Given the description of an element on the screen output the (x, y) to click on. 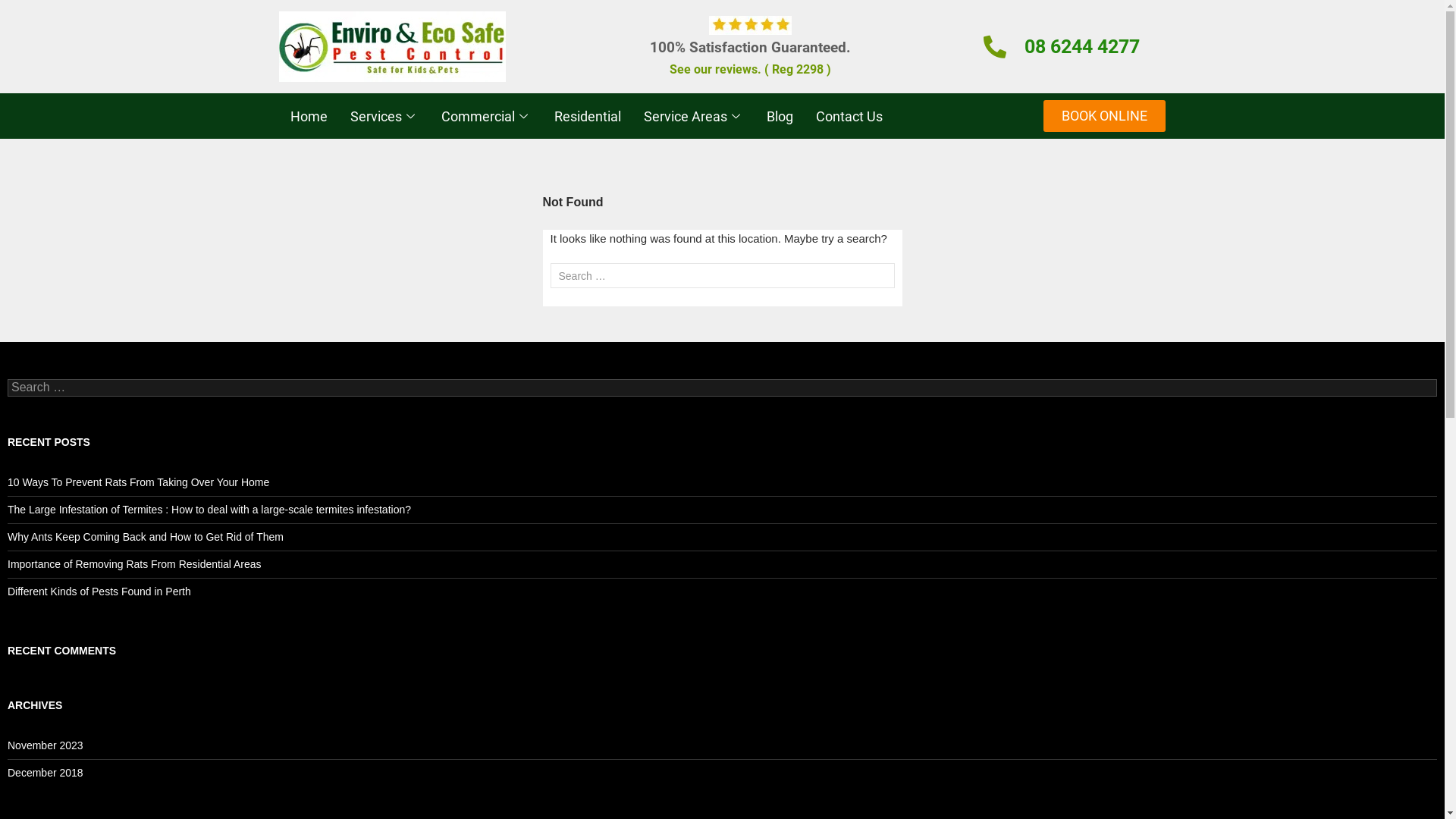
Importance of Removing Rats From Residential Areas  Element type: text (135, 564)
Search Element type: text (43, 13)
Services Element type: text (383, 115)
Different Kinds of Pests Found in Perth Element type: text (99, 591)
BOOK ONLINE Element type: text (1104, 115)
Service Areas Element type: text (693, 115)
08 6244 4277 Element type: text (1081, 45)
Why Ants Keep Coming Back and How to Get Rid of Them Element type: text (145, 536)
10 Ways To Prevent Rats From Taking Over Your Home Element type: text (138, 482)
November 2023 Element type: text (45, 745)
Home Element type: text (308, 115)
Commercial Element type: text (485, 115)
Residential Element type: text (587, 115)
Blog Element type: text (779, 115)
December 2018 Element type: text (45, 772)
Contact Us Element type: text (848, 115)
Search Element type: text (30, 8)
